Given the description of an element on the screen output the (x, y) to click on. 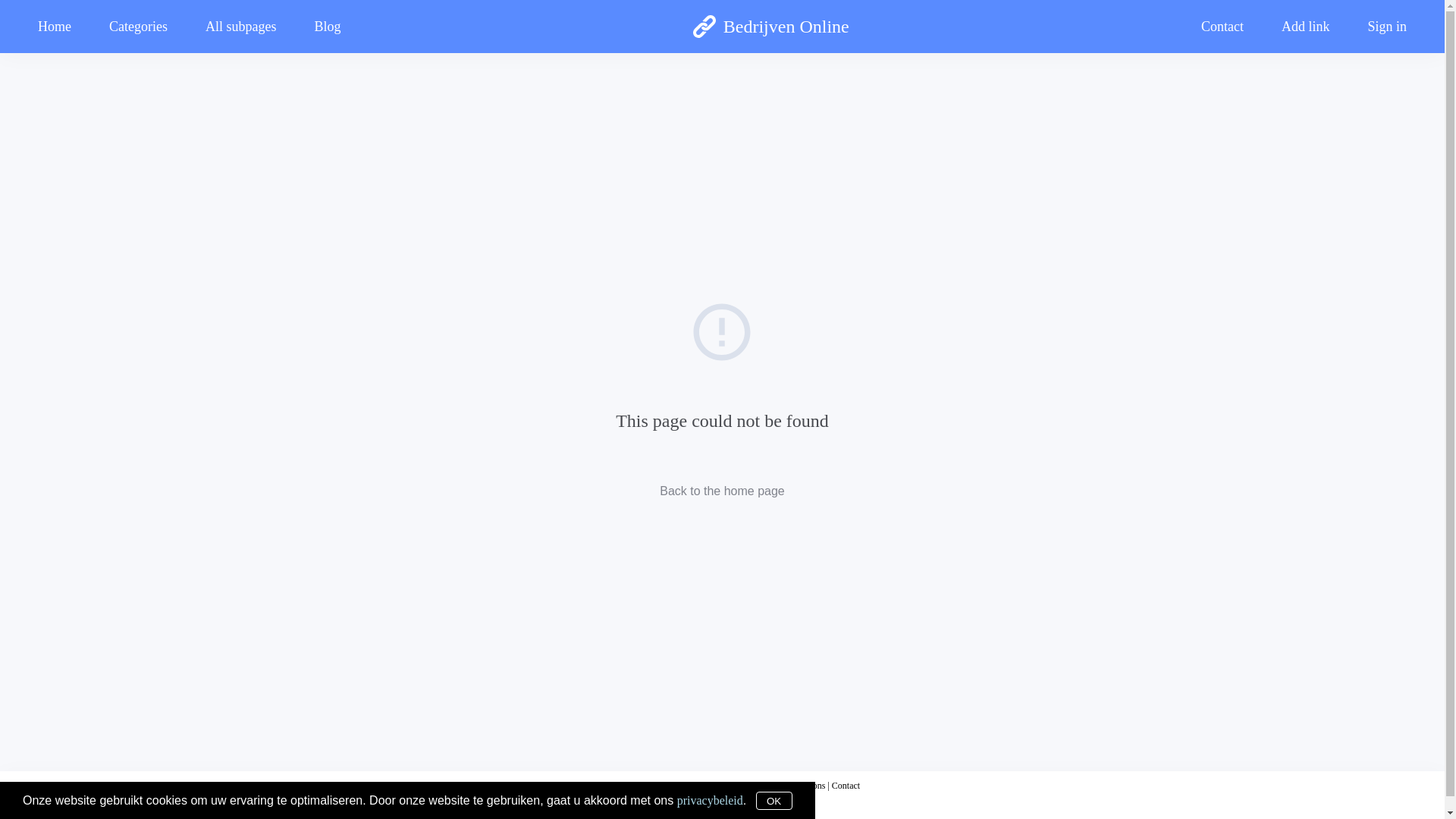
Back to the home page Element type: text (721, 489)
privacybeleid Element type: text (710, 799)
Add link Element type: text (1305, 25)
LinkBuilder Element type: text (71, 31)
Terms & Conditions Element type: text (788, 785)
bedrijven-online.be Element type: text (649, 785)
OK Element type: text (774, 800)
All subpages Element type: text (240, 25)
Contact Element type: text (845, 785)
Sign in Element type: text (1377, 25)
ADD LINK Element type: text (721, 376)
CATEGORIES Element type: text (722, 164)
Bedrijven Online Element type: text (770, 26)
Nuxt Element type: text (21, 802)
Contact Element type: text (1222, 25)
Home Element type: text (63, 25)
Privacy Policy Element type: text (717, 785)
SIGN IN Element type: text (721, 446)
CONTACT Element type: text (722, 305)
Blog Element type: text (326, 25)
HOME Element type: text (721, 94)
ALL SUBPAGES Element type: text (721, 235)
Categories Element type: text (138, 25)
